Given the description of an element on the screen output the (x, y) to click on. 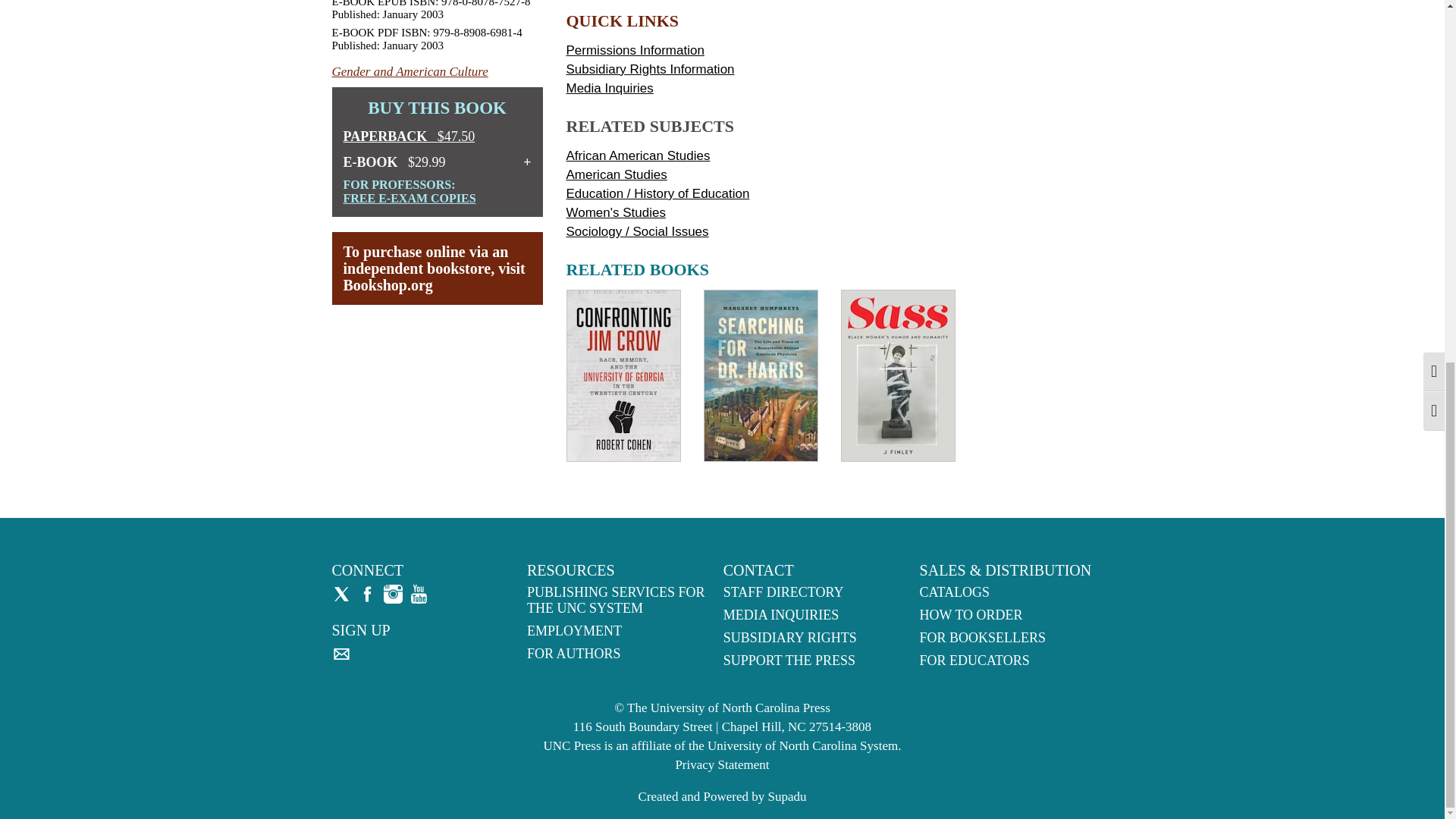
FREE E-EXAM COPIES (409, 197)
Gender and American Culture (409, 71)
